Given the description of an element on the screen output the (x, y) to click on. 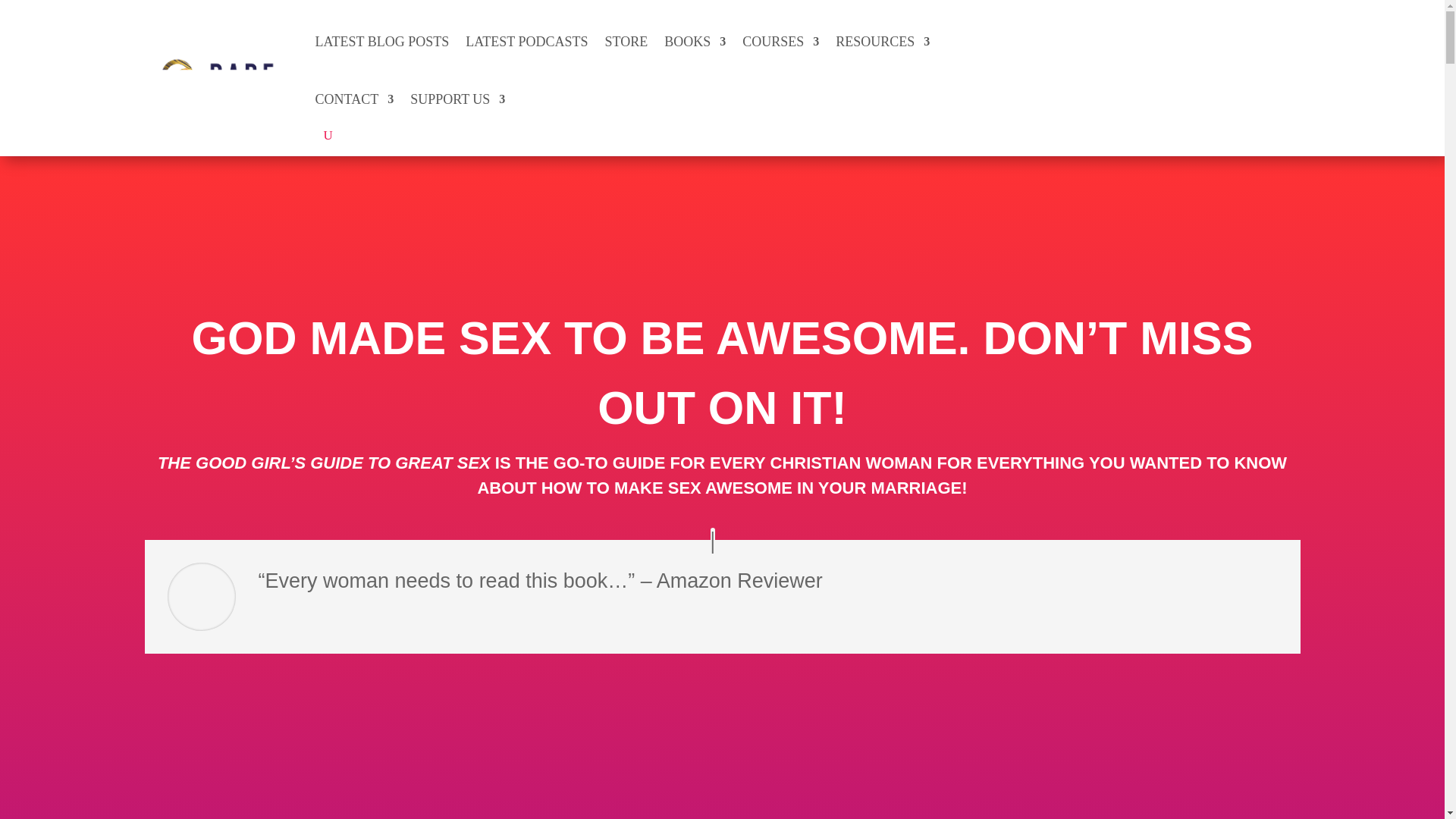
COURSES (780, 41)
BOOKS (694, 41)
RESOURCES (882, 41)
LATEST BLOG POSTS (382, 41)
LATEST PODCASTS (526, 41)
